Given the description of an element on the screen output the (x, y) to click on. 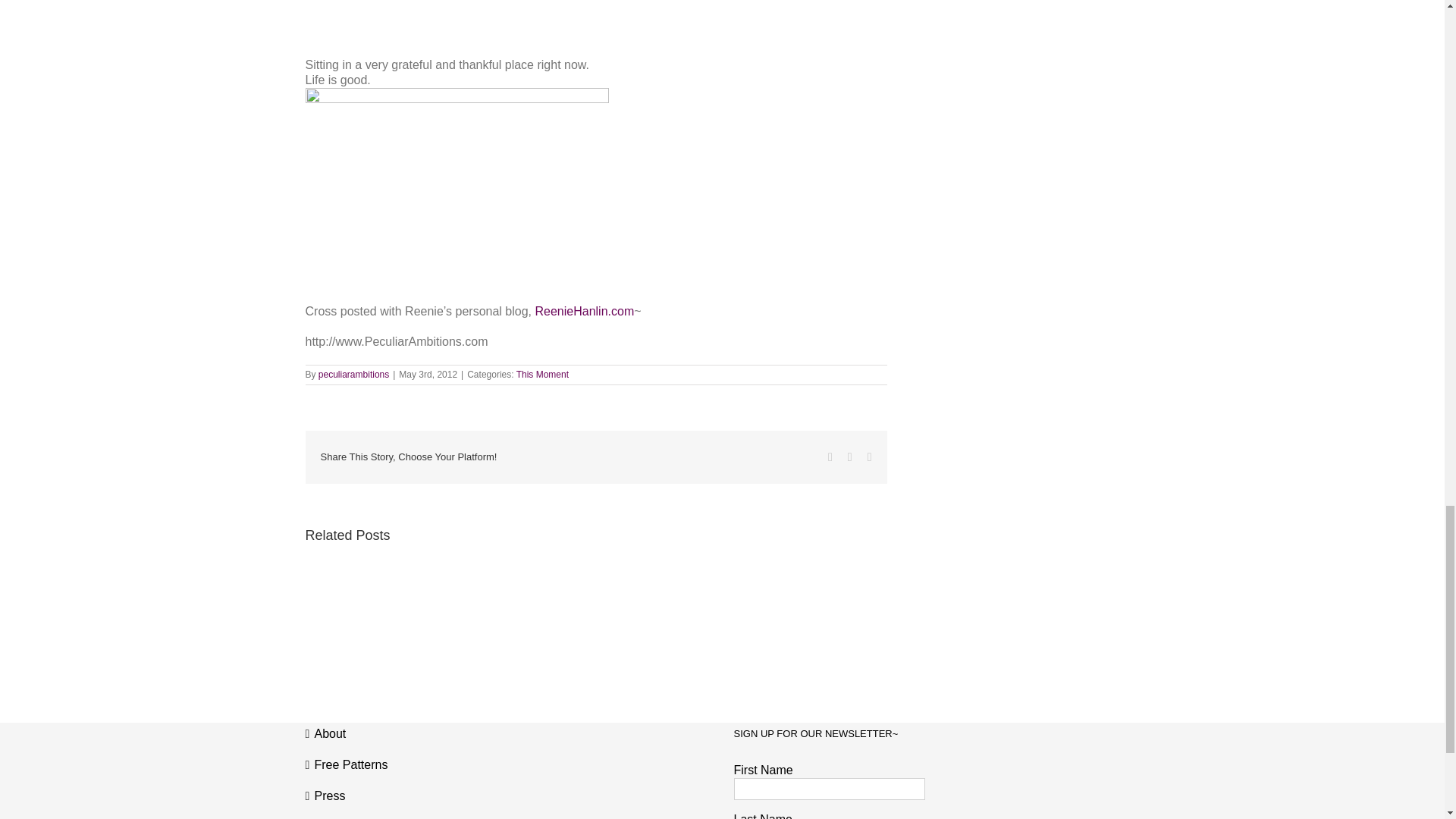
Posts by peculiarambitions (353, 374)
This Moment (542, 374)
ReenieHanlin.com (583, 310)
peculiarambitions (353, 374)
